Given the description of an element on the screen output the (x, y) to click on. 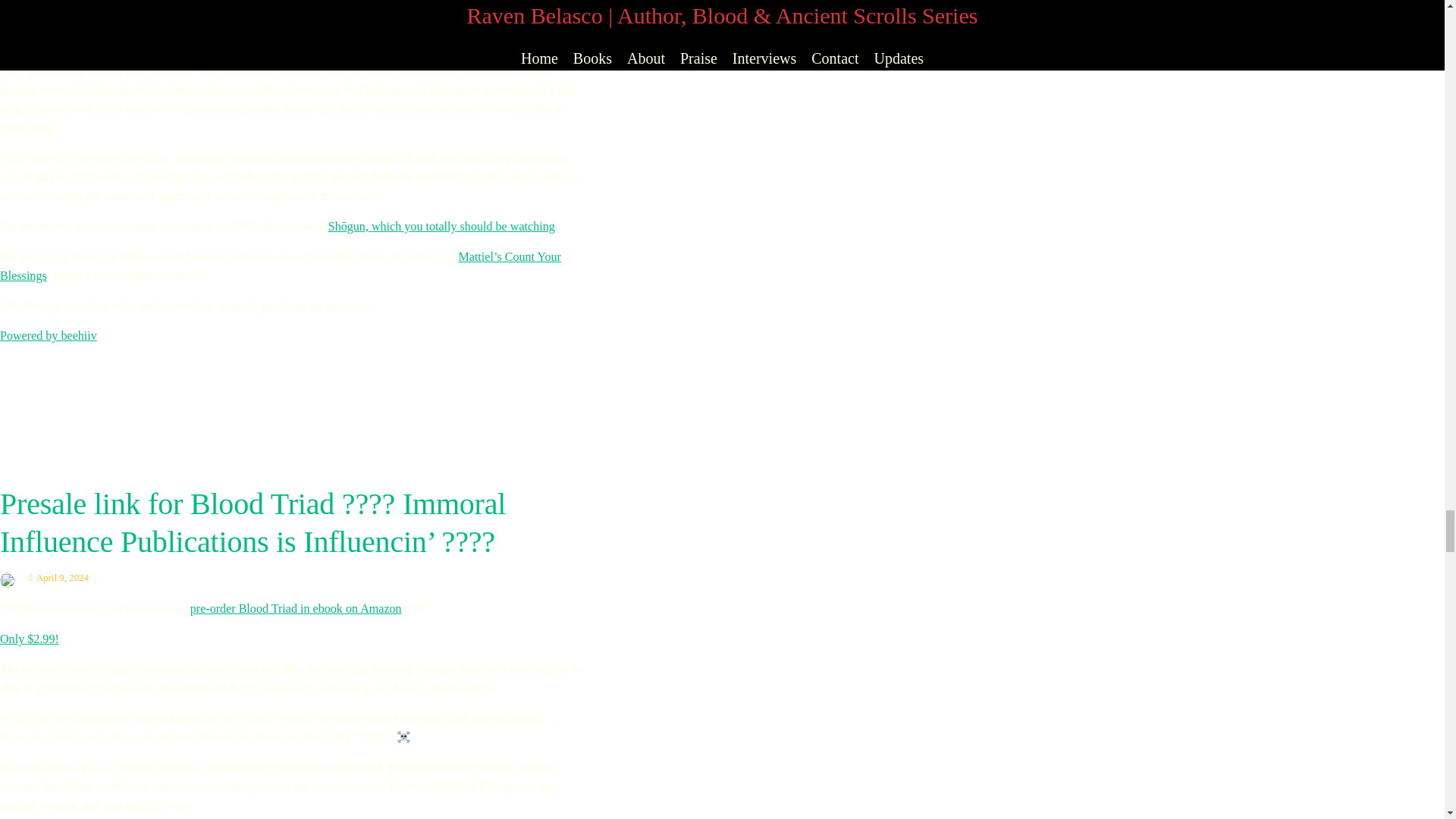
View all posts by  (10, 577)
